Given the description of an element on the screen output the (x, y) to click on. 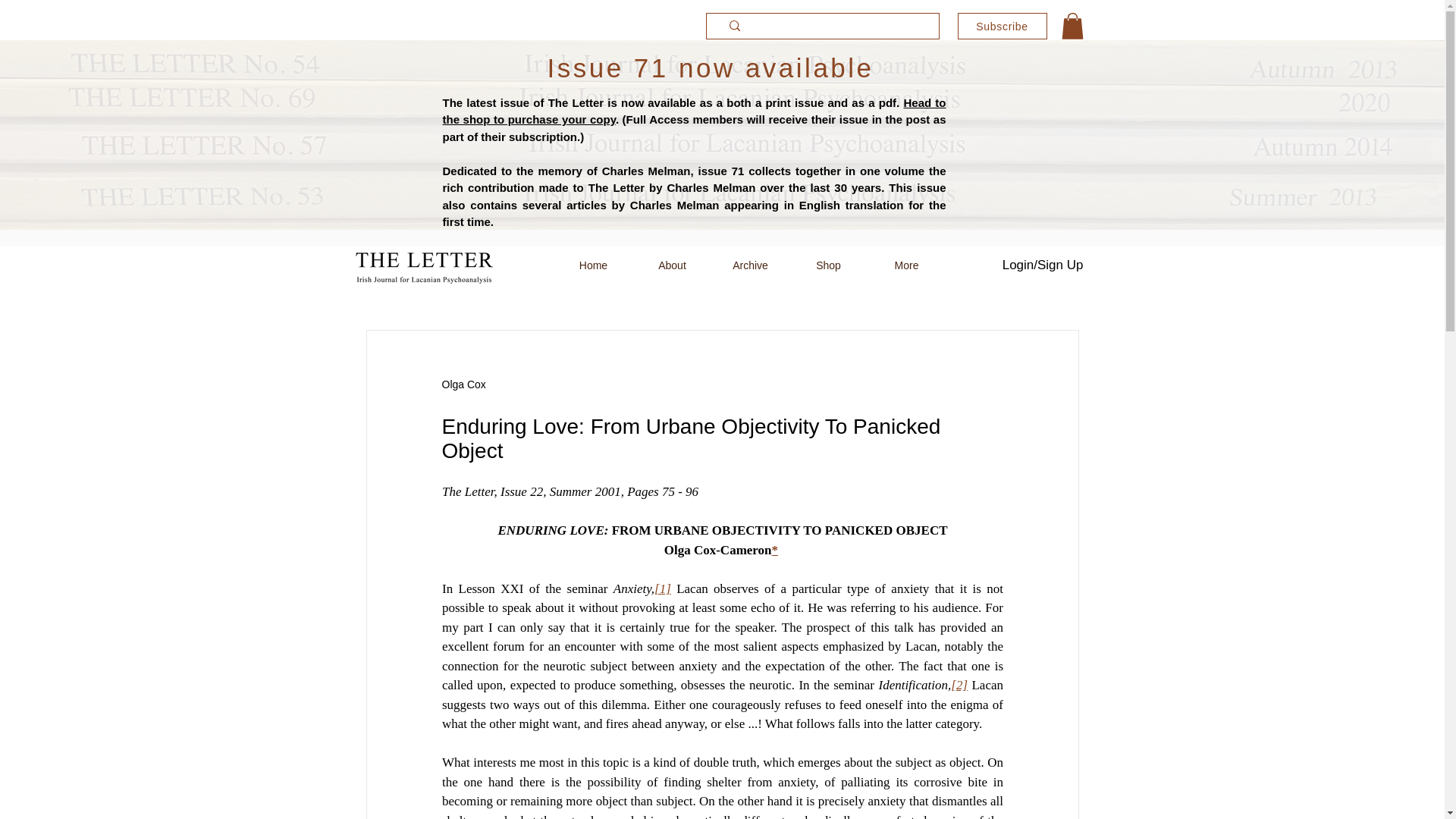
Home (592, 265)
Head to the shop to purchase your copy (694, 111)
Olga Cox (462, 384)
Shop (827, 265)
Subscribe (1001, 26)
Olga Cox (462, 384)
